Given the description of an element on the screen output the (x, y) to click on. 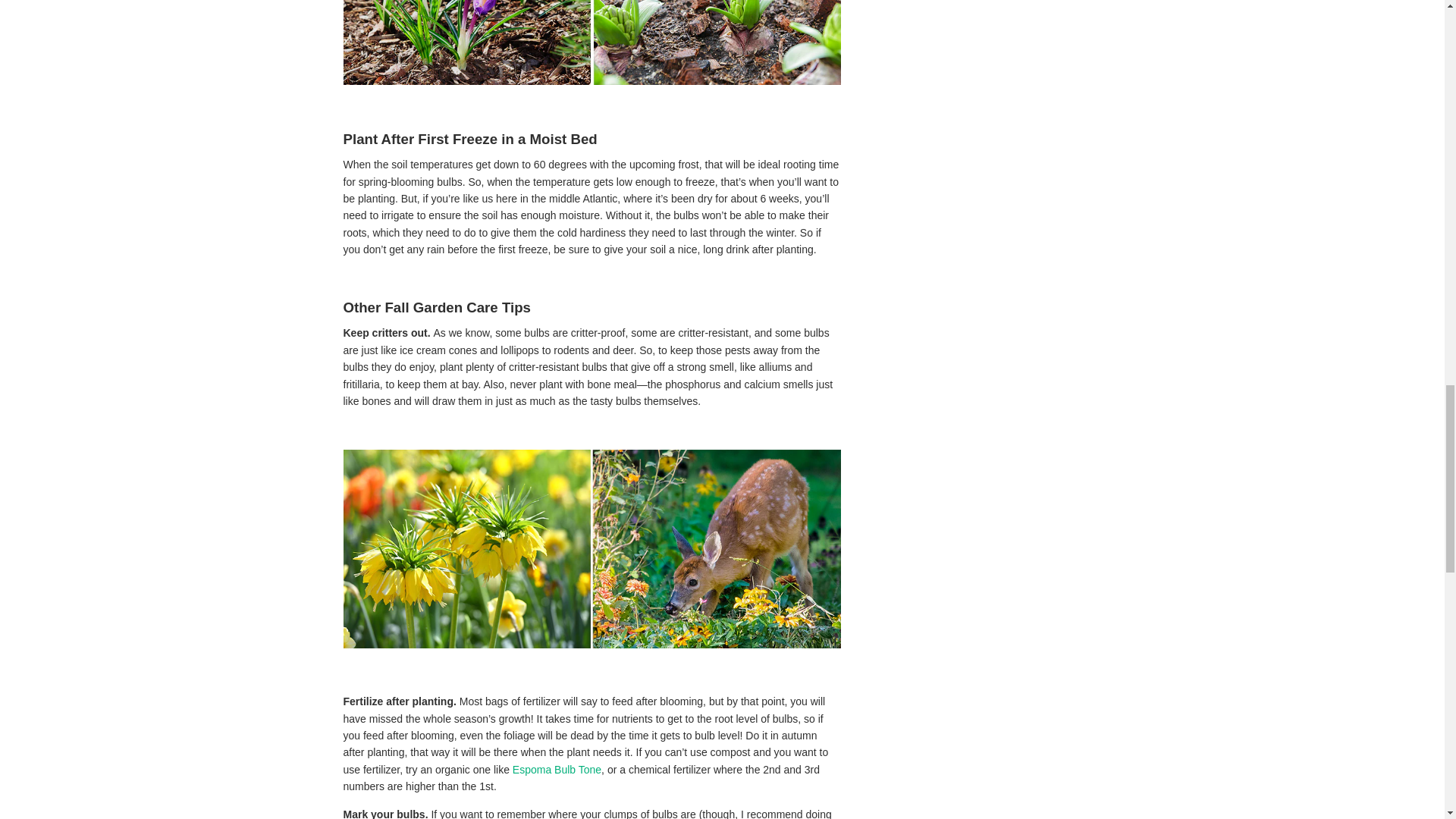
Espoma Bulb Tone (556, 769)
